Given the description of an element on the screen output the (x, y) to click on. 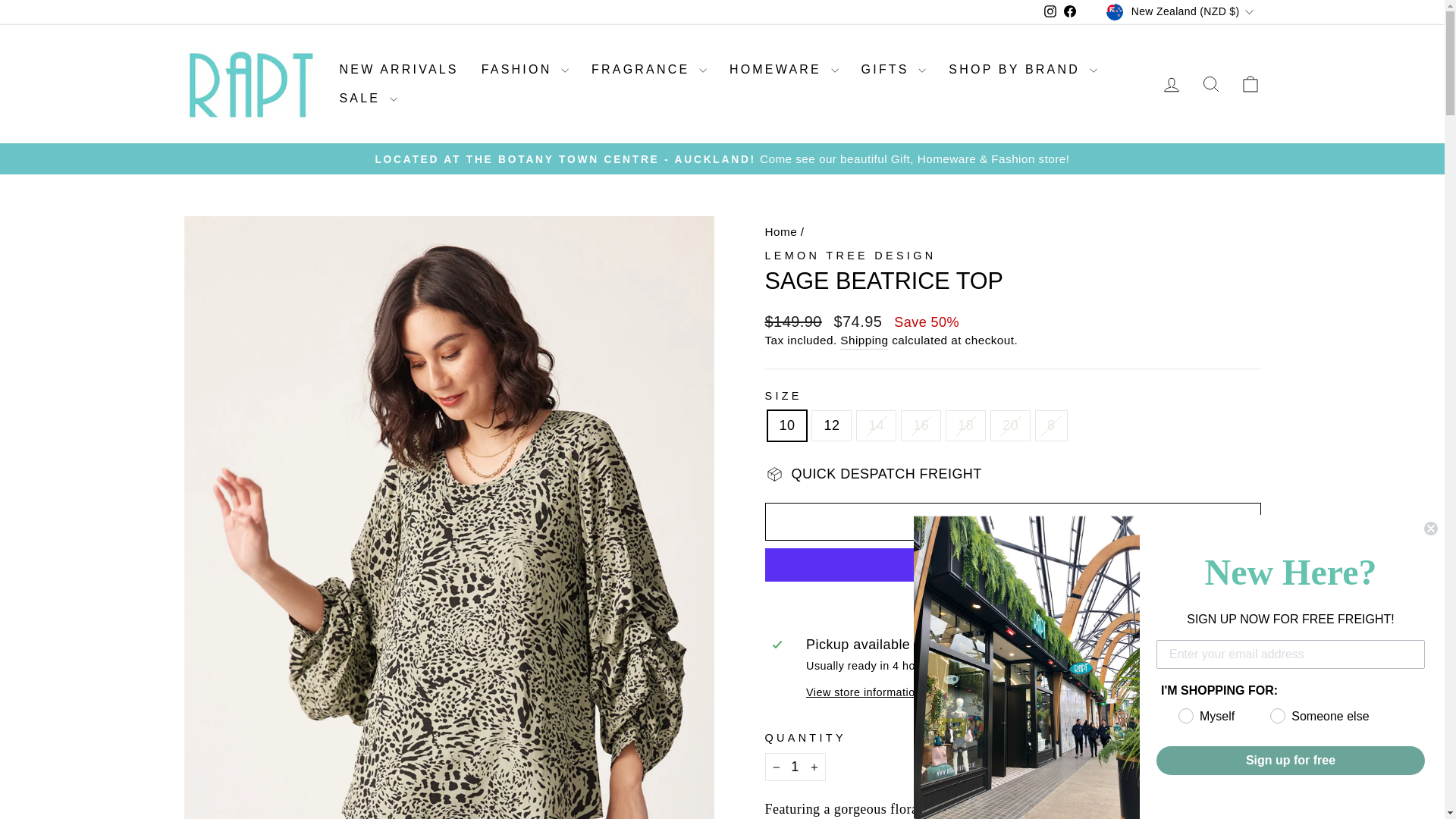
Shopify online store chat (1383, 781)
Back to the frontpage (780, 231)
1 (794, 766)
instagram (1050, 10)
ACCOUNT (1170, 84)
ICON-SEARCH (1210, 84)
LEMON TREE DESIGN (850, 255)
ICON-BAG-MINIMAL (1249, 84)
